Given the description of an element on the screen output the (x, y) to click on. 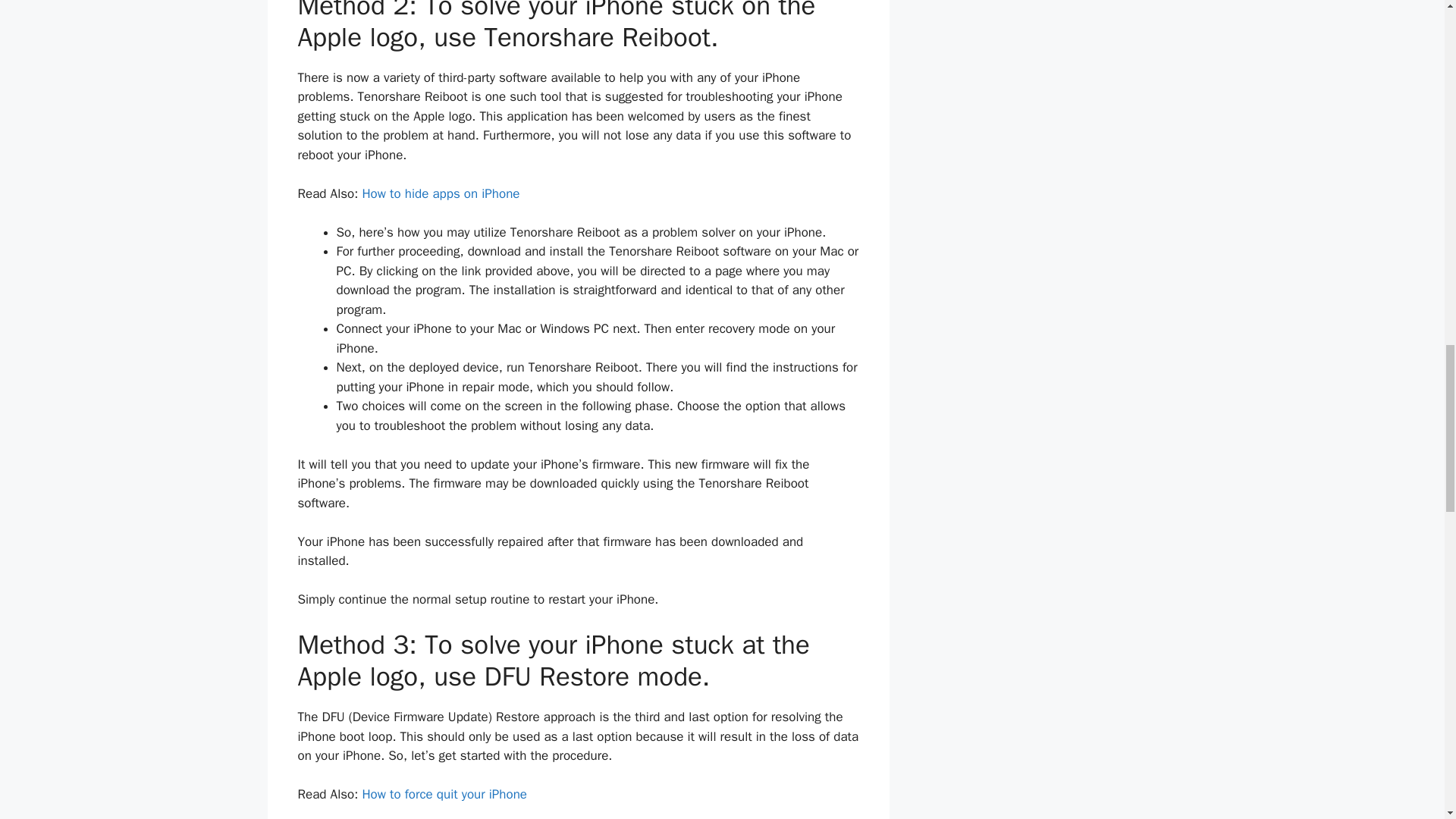
How to hide apps on iPhone (440, 193)
How to force quit your iPhone (444, 794)
